Given the description of an element on the screen output the (x, y) to click on. 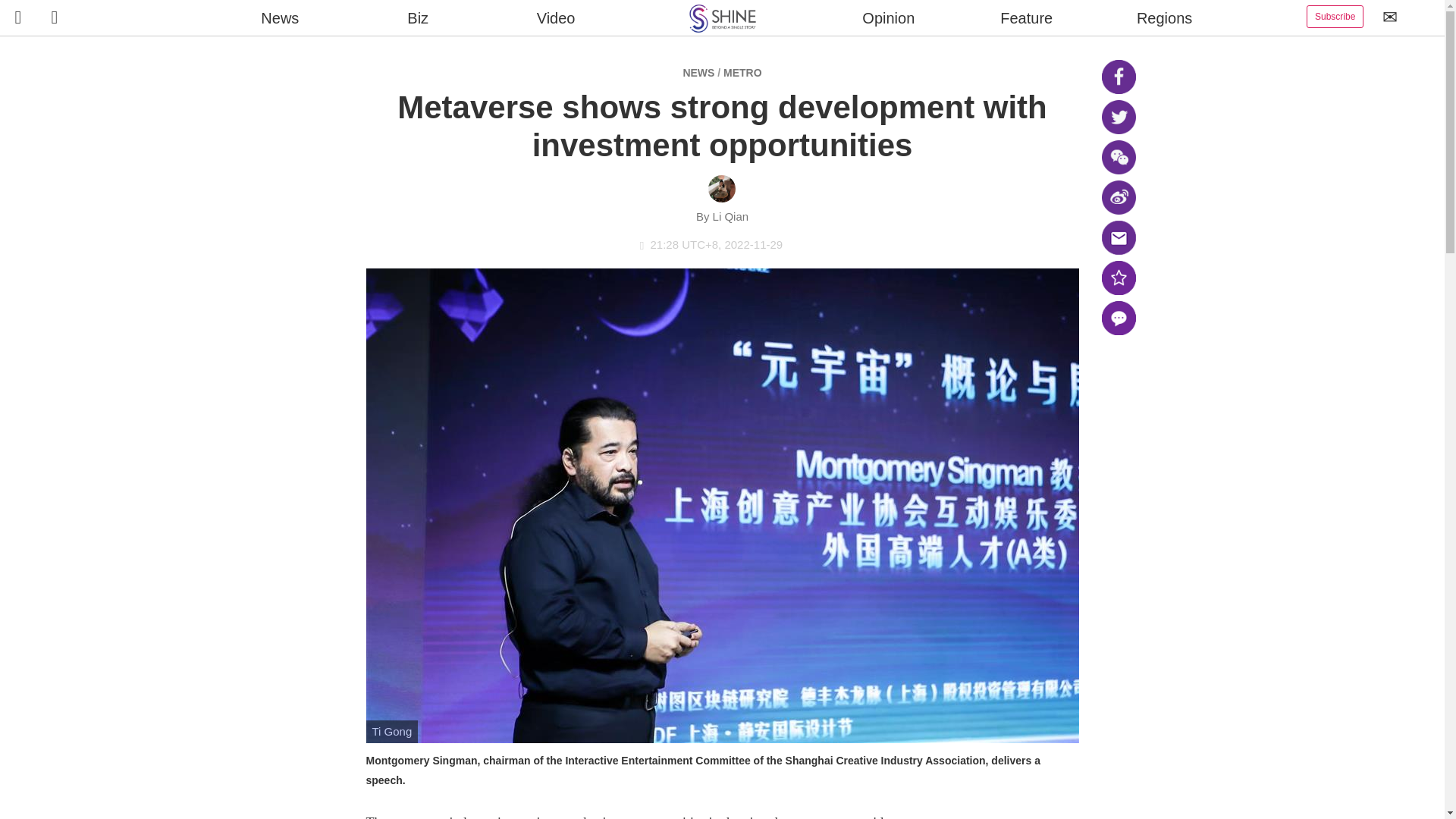
Share via email (1117, 237)
Share your comments (1117, 317)
NEWS (698, 72)
Add to favorites (1117, 277)
METRO (742, 72)
